Given the description of an element on the screen output the (x, y) to click on. 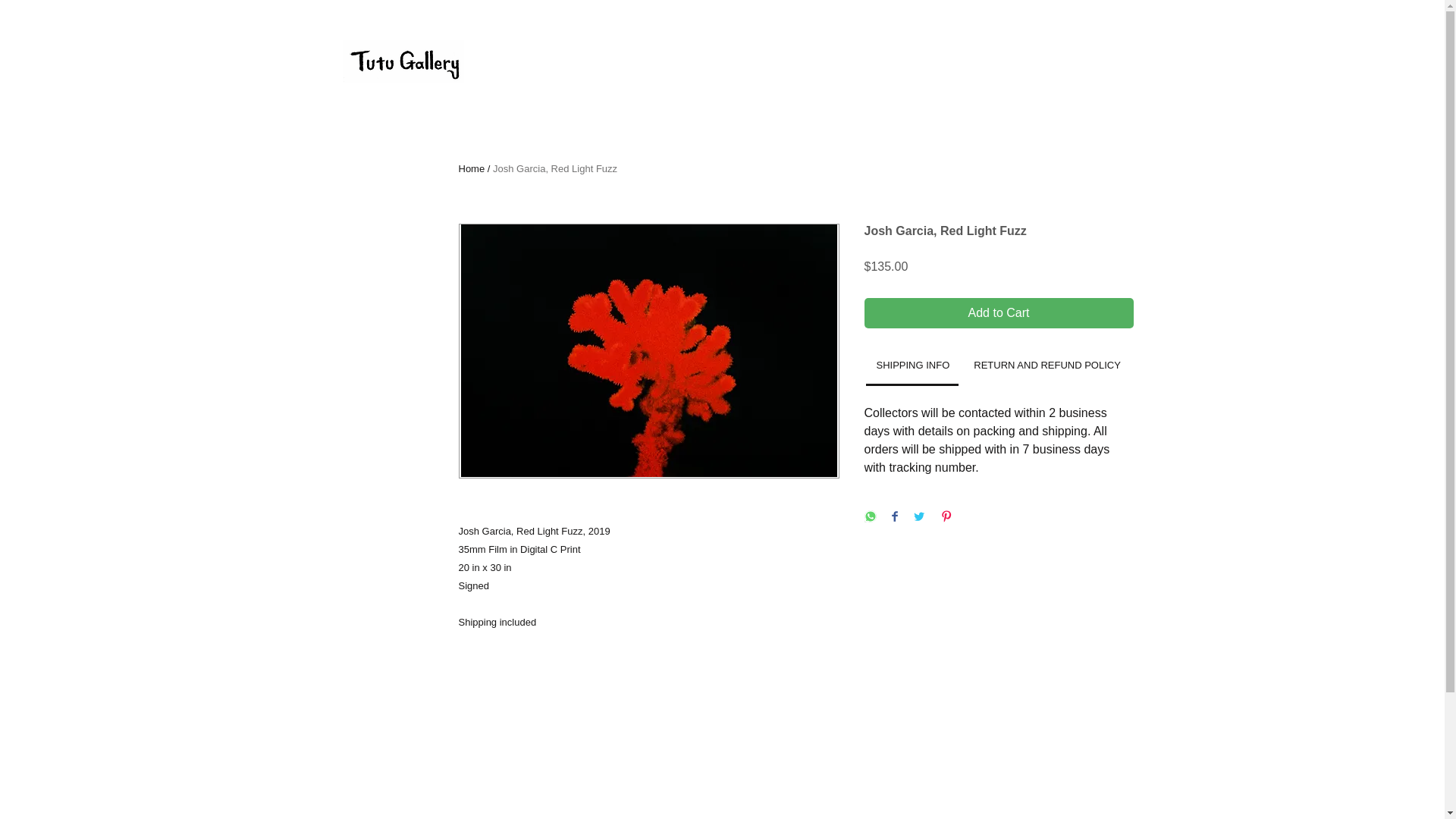
Add to Cart (999, 313)
Home (471, 168)
Josh Garcia, Red Light Fuzz (555, 168)
Use right and left arrows to navigate between tabs (1046, 366)
Use right and left arrows to navigate between tabs (913, 366)
